Given the description of an element on the screen output the (x, y) to click on. 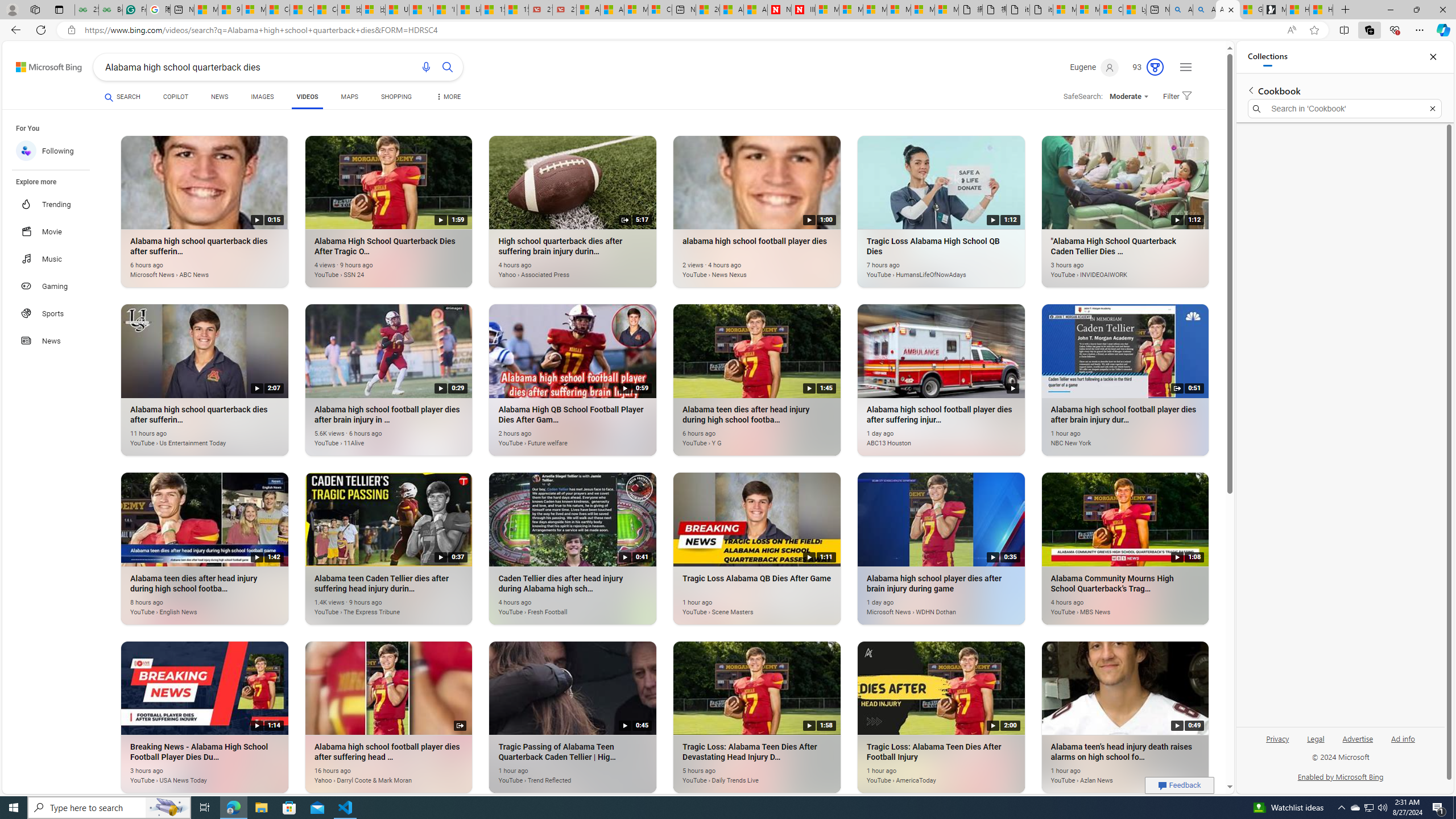
itconcepthk.com/projector_solutions.mp4 (1041, 9)
AutomationID: rh_meter (1155, 66)
Filter (1174, 96)
20 Ways to Boost Your Protein Intake at Every Meal (708, 9)
21 Movies That Outdid the Books They Were Based On (563, 9)
COPILOT (175, 96)
alabama high school football player dies (742, 268)
